Given the description of an element on the screen output the (x, y) to click on. 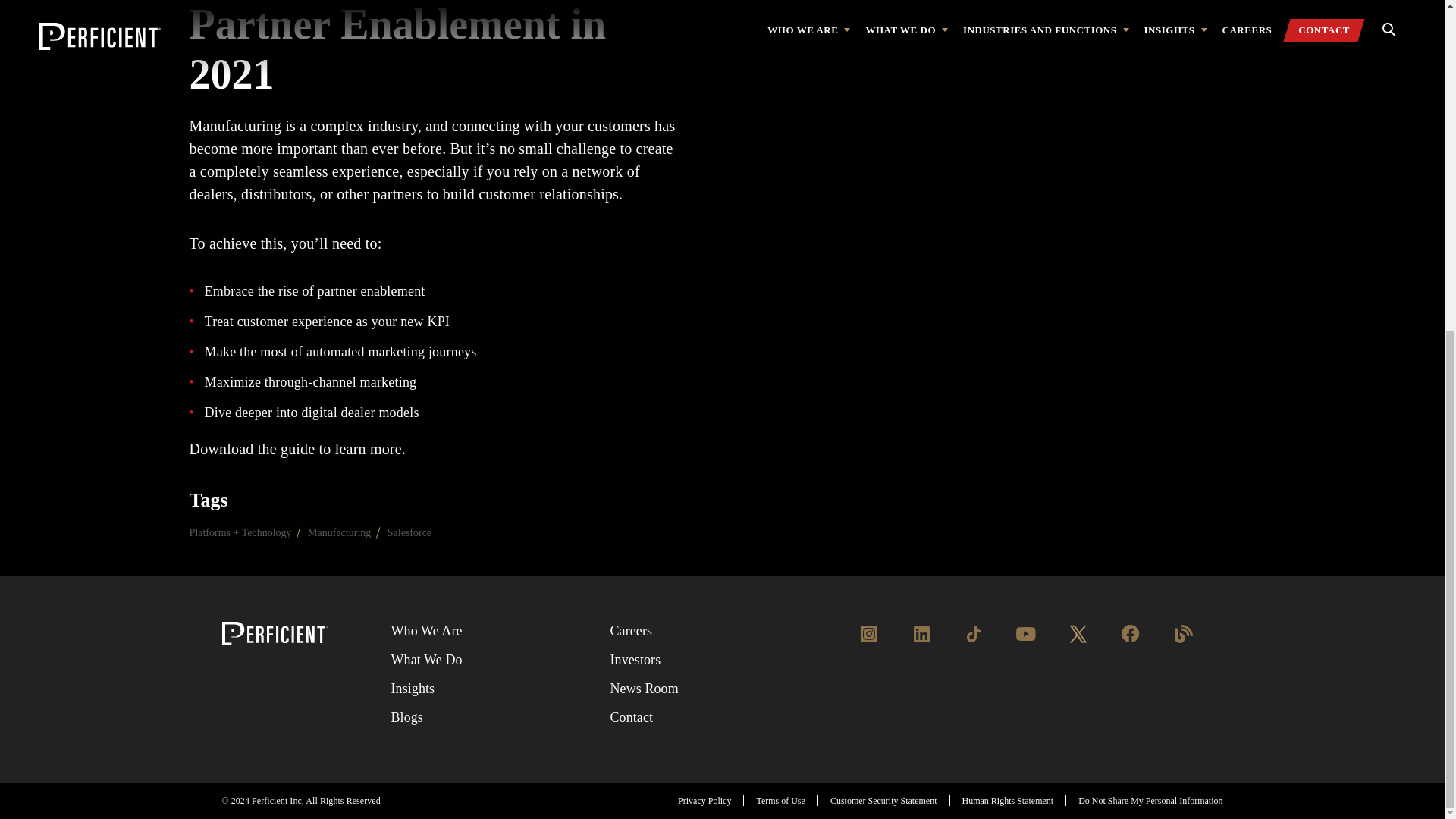
Perficient TikTok (972, 641)
Who We Are (425, 630)
Blogs (406, 717)
Careers (631, 630)
Do Not Share My Personal Information (1150, 800)
Perficient Facebook (1129, 641)
Privacy Policy (704, 800)
Terms of Use (780, 800)
Perficient Blog (1182, 641)
Perficient Twitter (1077, 641)
Contact (631, 717)
Perficient LinkedIn (920, 641)
Customer Security Statement (883, 800)
Insights (411, 688)
Perficient's YouTube Channel (1024, 641)
